Given the description of an element on the screen output the (x, y) to click on. 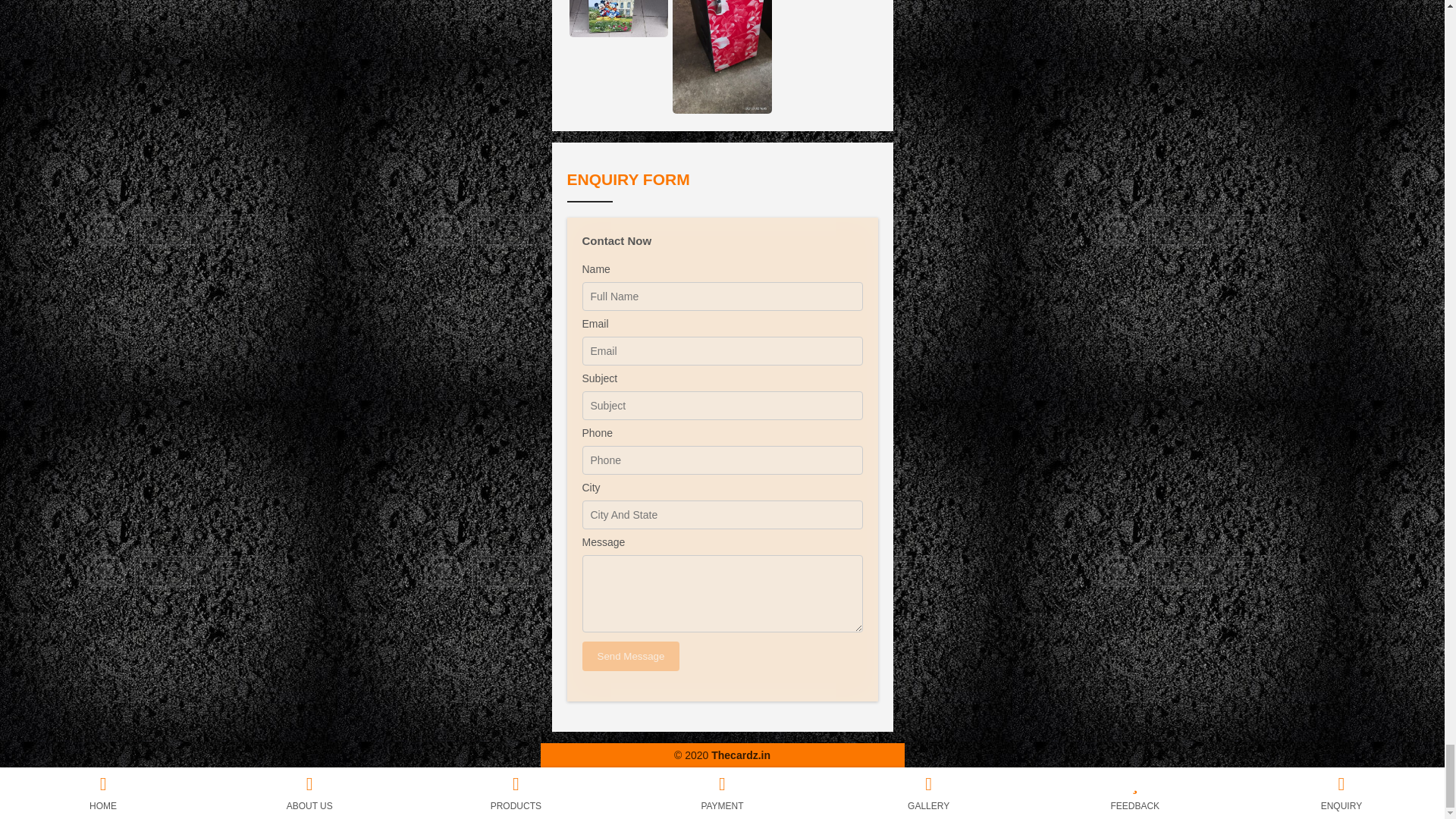
Send Message (630, 655)
Thecardz.in (740, 755)
